Given the description of an element on the screen output the (x, y) to click on. 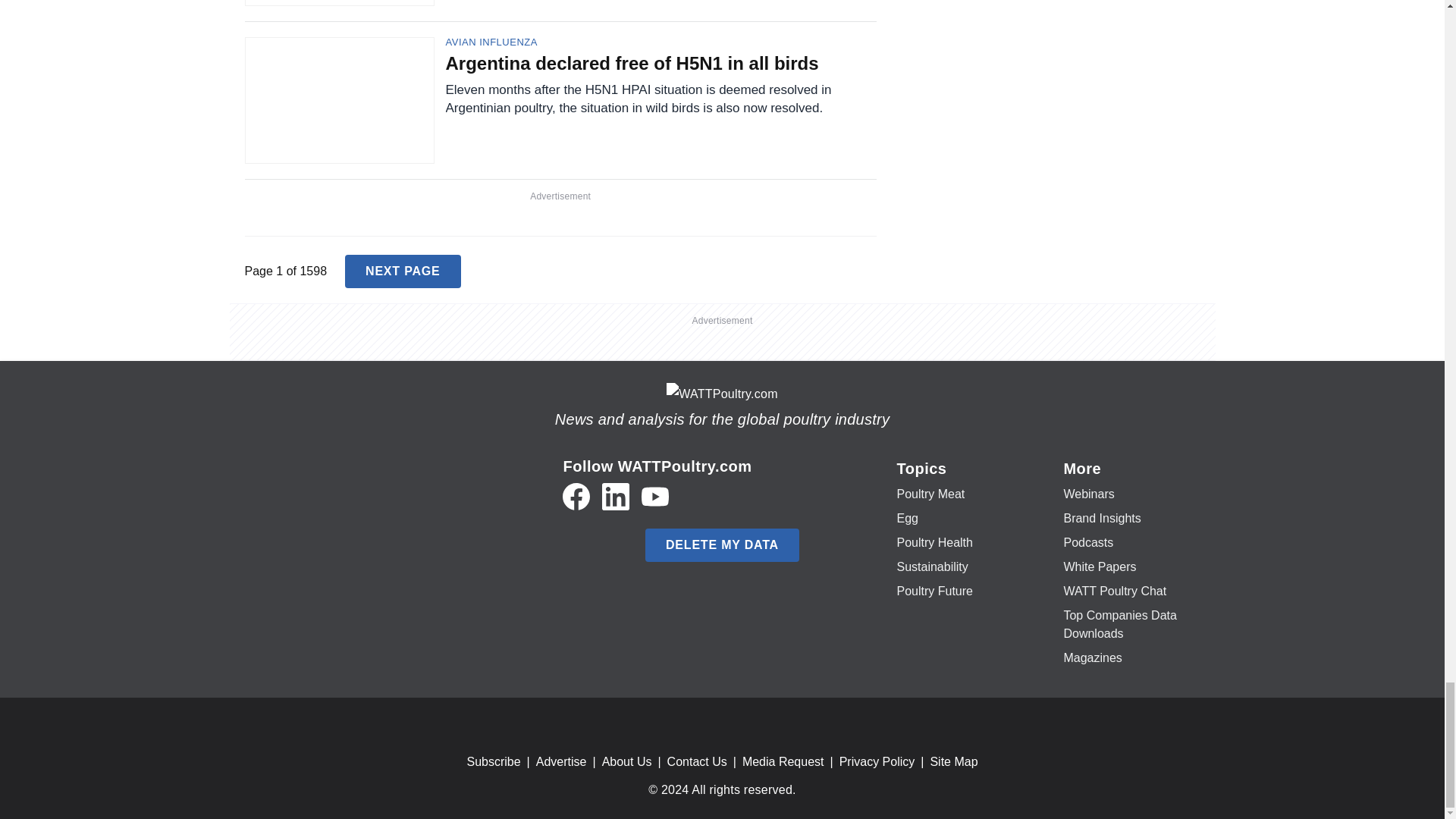
YouTube icon (655, 496)
LinkedIn icon (615, 496)
Facebook icon (575, 496)
